Given the description of an element on the screen output the (x, y) to click on. 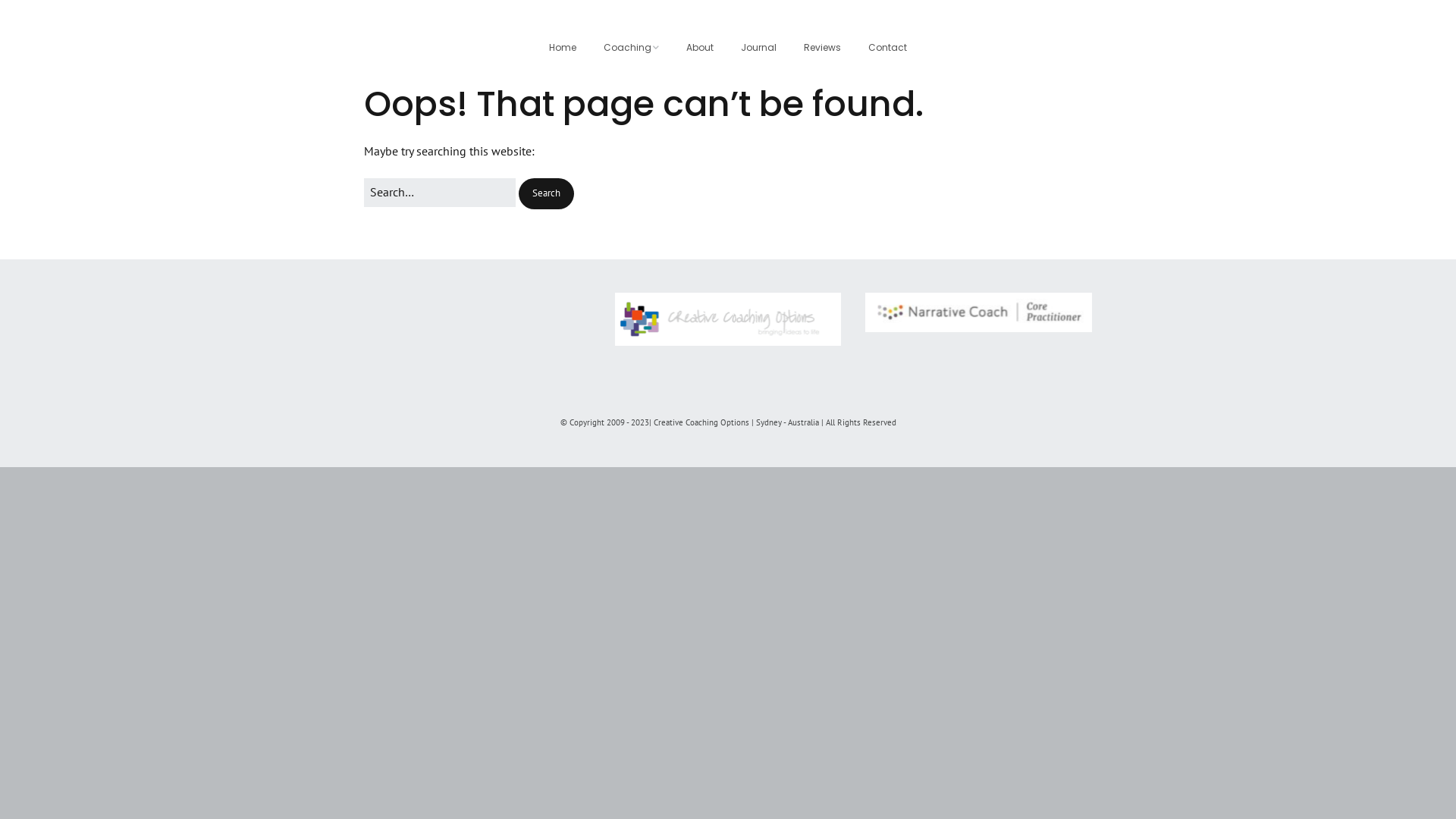
Reviews Element type: text (822, 47)
Journal Element type: text (758, 47)
Contact Element type: text (887, 47)
Home Element type: text (562, 47)
Search Element type: text (546, 193)
About Element type: text (699, 47)
Press Enter to submit your search Element type: hover (439, 192)
Coaching Element type: text (631, 47)
